Given the description of an element on the screen output the (x, y) to click on. 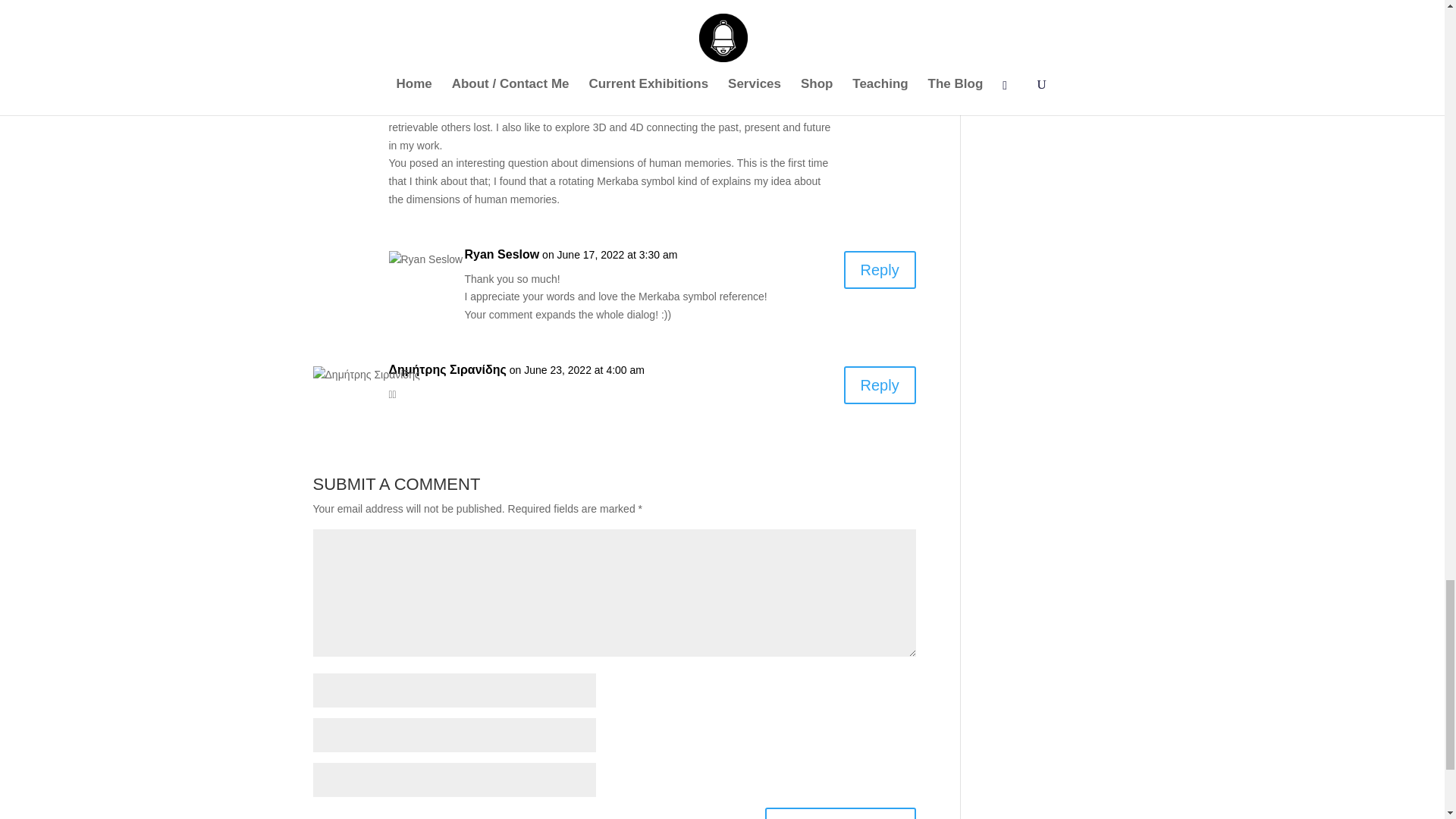
Submit Comment (840, 813)
Reply (879, 64)
Reply (879, 385)
Ryan Seslow (501, 254)
Submit Comment (840, 813)
Reply (879, 269)
